Given the description of an element on the screen output the (x, y) to click on. 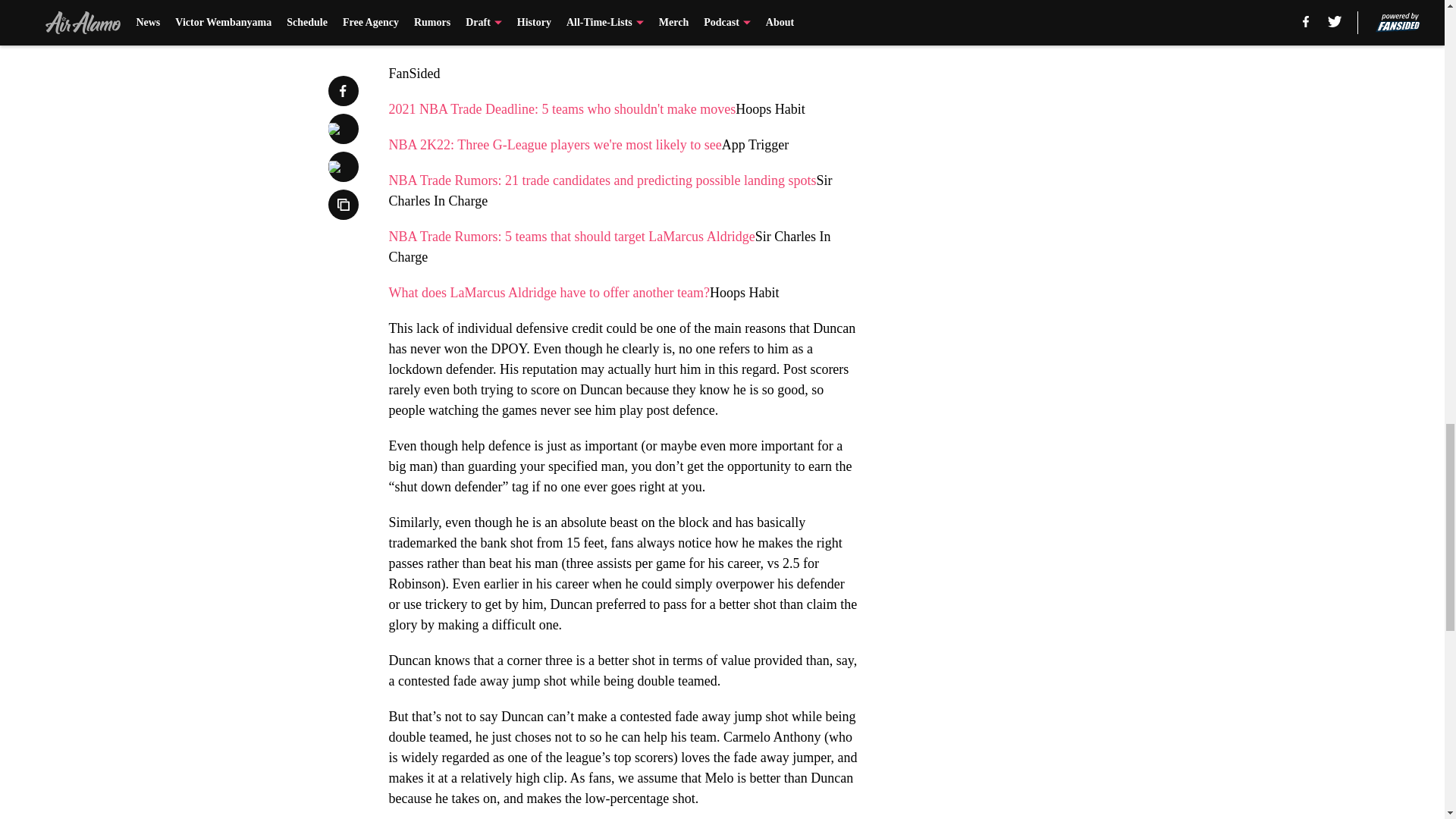
2021 NBA Trade Deadline: 5 teams who shouldn't make moves (561, 109)
What does LaMarcus Aldridge have to offer another team? (549, 292)
NBA 2K22: Three G-League players we're most likely to see (554, 144)
